Given the description of an element on the screen output the (x, y) to click on. 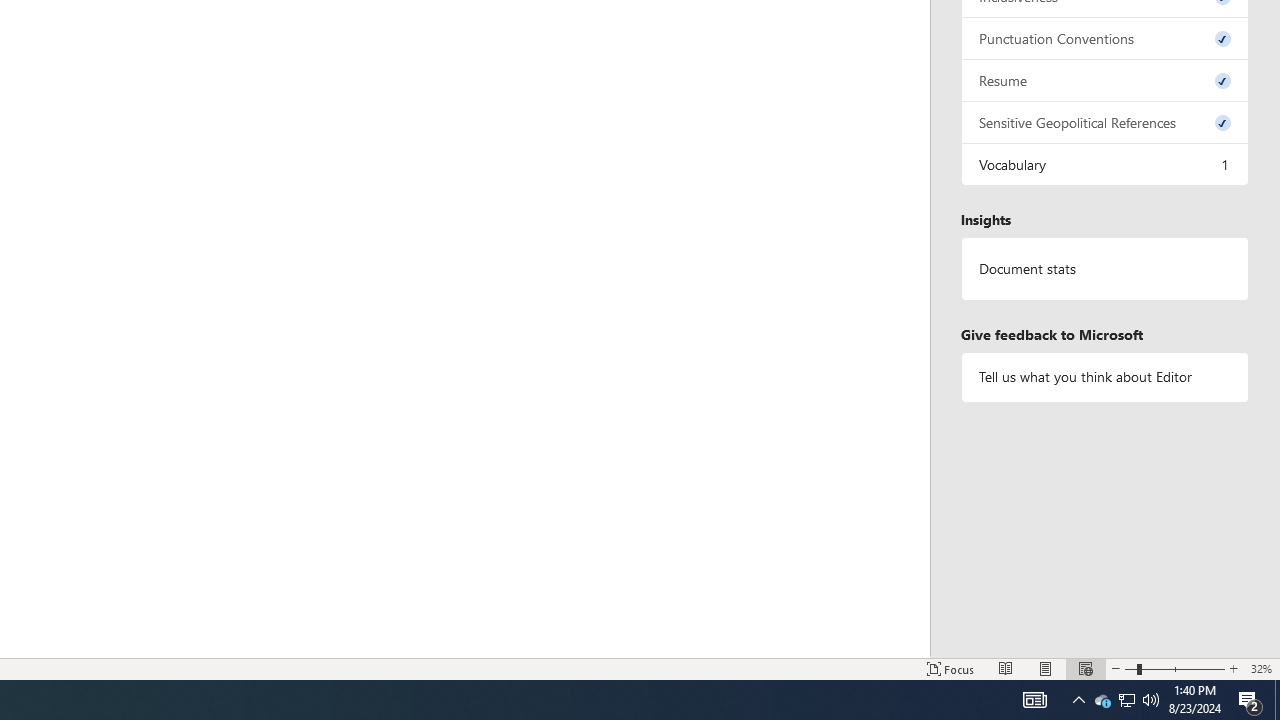
Vocabulary, 1 issue. Press space or enter to review items. (1105, 164)
Zoom (1174, 668)
Resume, 0 issues. Press space or enter to review items. (1105, 79)
Print Layout (1046, 668)
Read Mode (1005, 668)
Tell us what you think about Editor (1105, 376)
Focus  (951, 668)
Zoom 32% (1261, 668)
Document statistics (1105, 269)
Zoom In (1233, 668)
Web Layout (1085, 668)
Zoom Out (1130, 668)
